Given the description of an element on the screen output the (x, y) to click on. 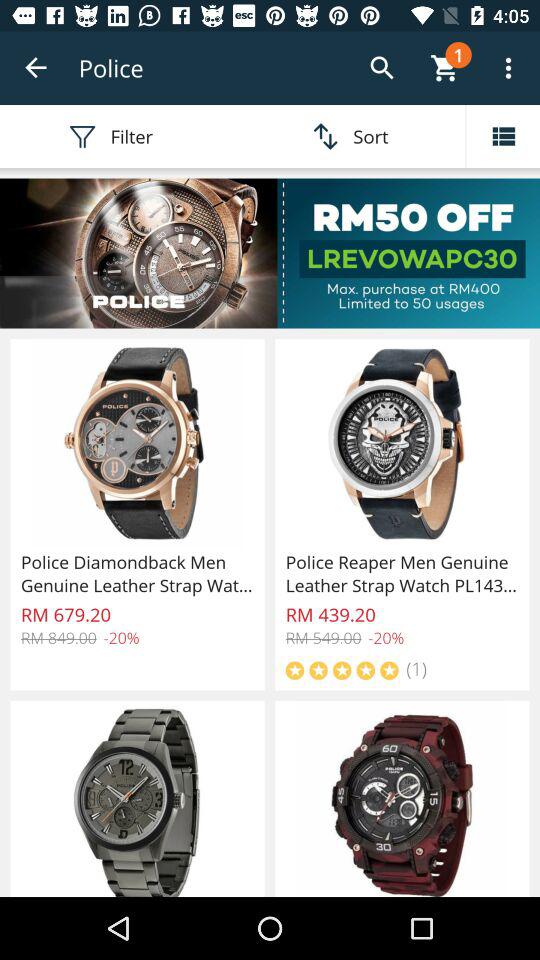
access discount code (270, 253)
